Given the description of an element on the screen output the (x, y) to click on. 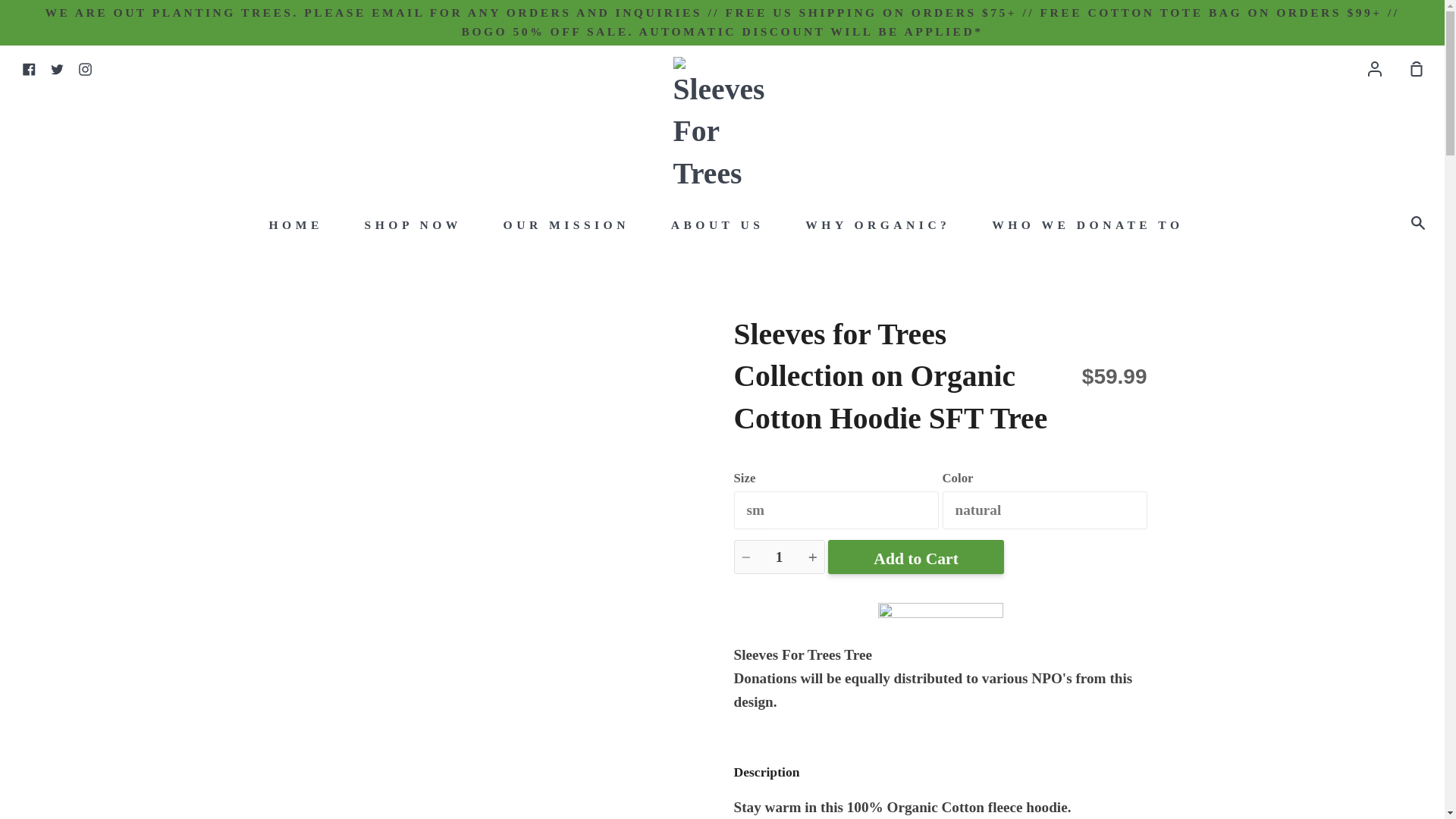
WHY ORGANIC? (877, 224)
OUR MISSION (566, 224)
Account (1374, 68)
1 (779, 556)
Add to Cart (916, 556)
SHOP NOW (413, 224)
HOME (295, 224)
ABOUT US (717, 224)
WHO WE DONATE TO (1087, 224)
